Given the description of an element on the screen output the (x, y) to click on. 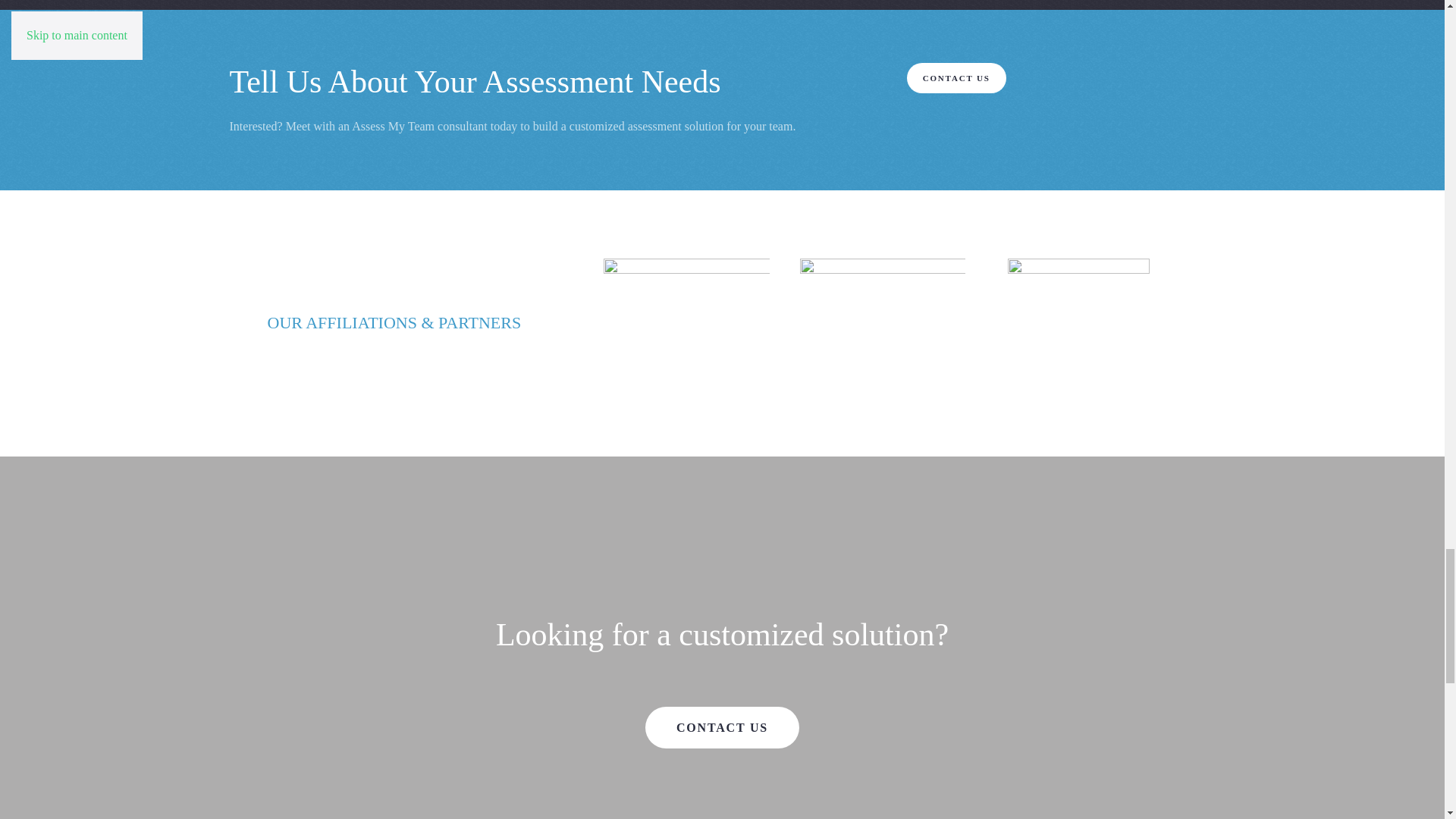
CONTACT US (956, 78)
CONTACT US (722, 727)
Assessment Inquiry (956, 78)
